Given the description of an element on the screen output the (x, y) to click on. 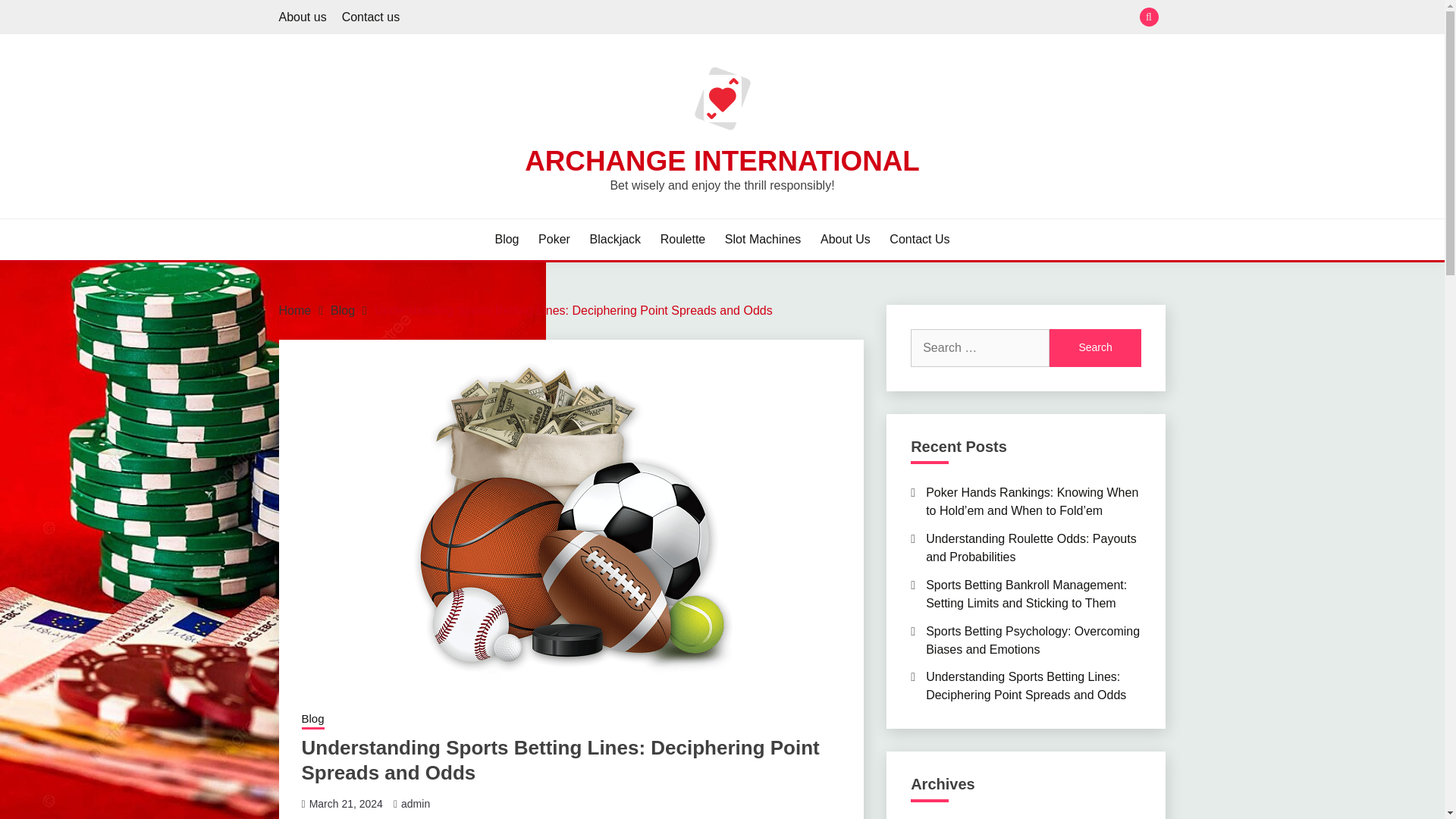
Home (295, 309)
Blog (342, 309)
Roulette (683, 239)
Blog (312, 720)
Understanding Roulette Odds: Payouts and Probabilities (1031, 547)
ARCHANGE INTERNATIONAL (722, 160)
Search (832, 18)
Contact us (370, 16)
About us (302, 16)
Contact Us (919, 239)
March 21, 2024 (345, 803)
Poker (554, 239)
Blog (506, 239)
